Given the description of an element on the screen output the (x, y) to click on. 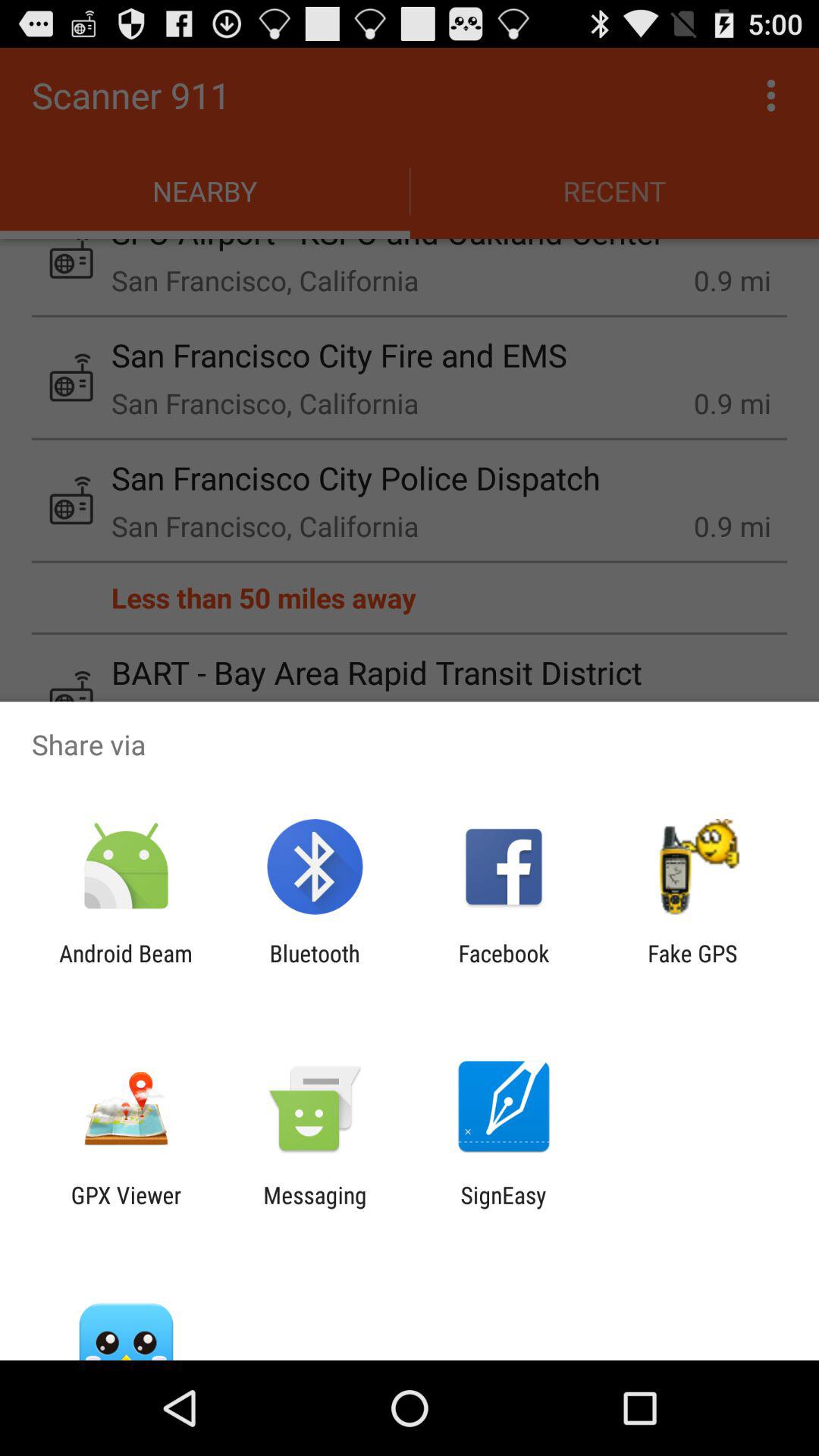
scroll until fake gps (692, 966)
